Given the description of an element on the screen output the (x, y) to click on. 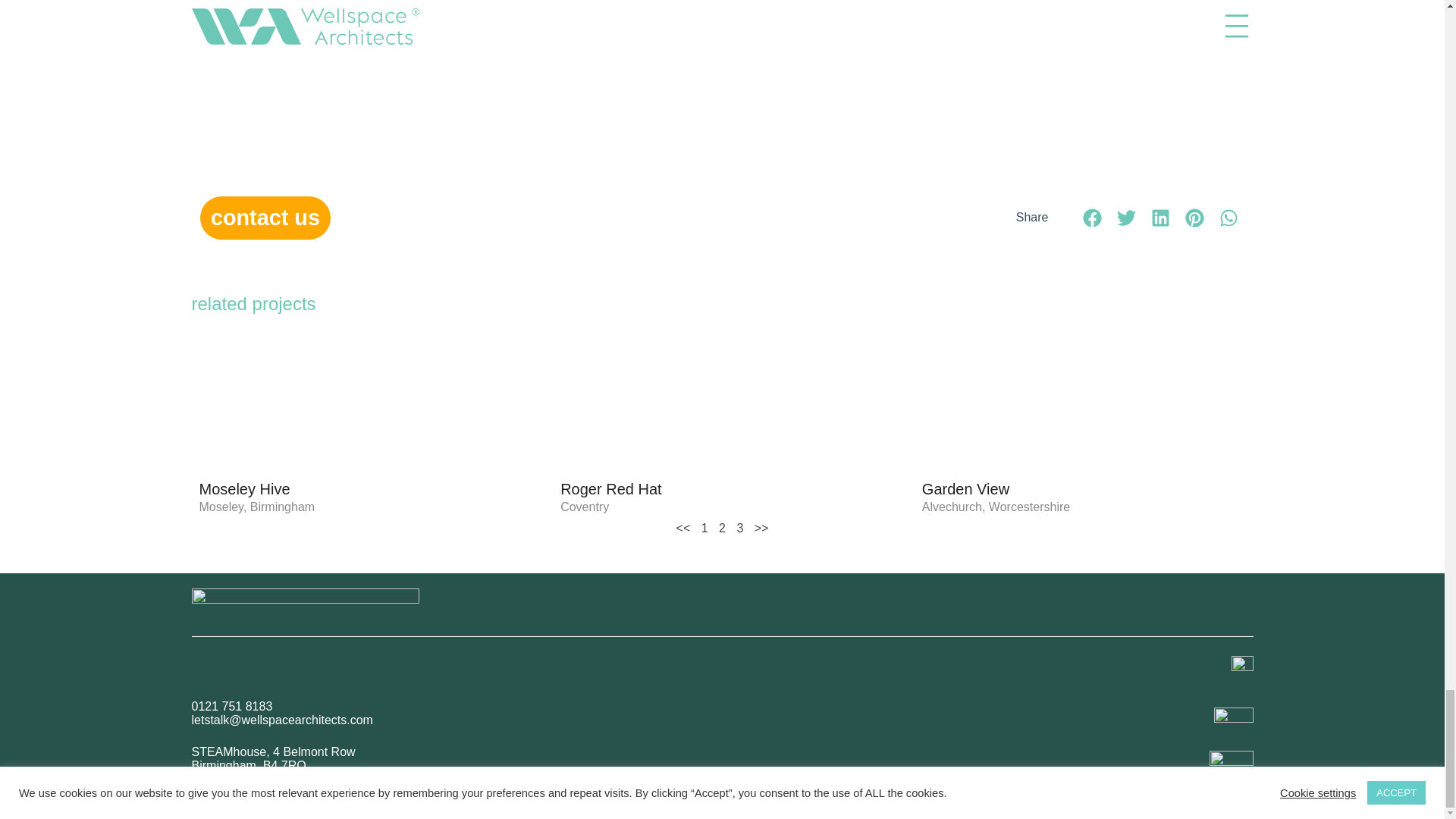
contact us (264, 217)
